Given the description of an element on the screen output the (x, y) to click on. 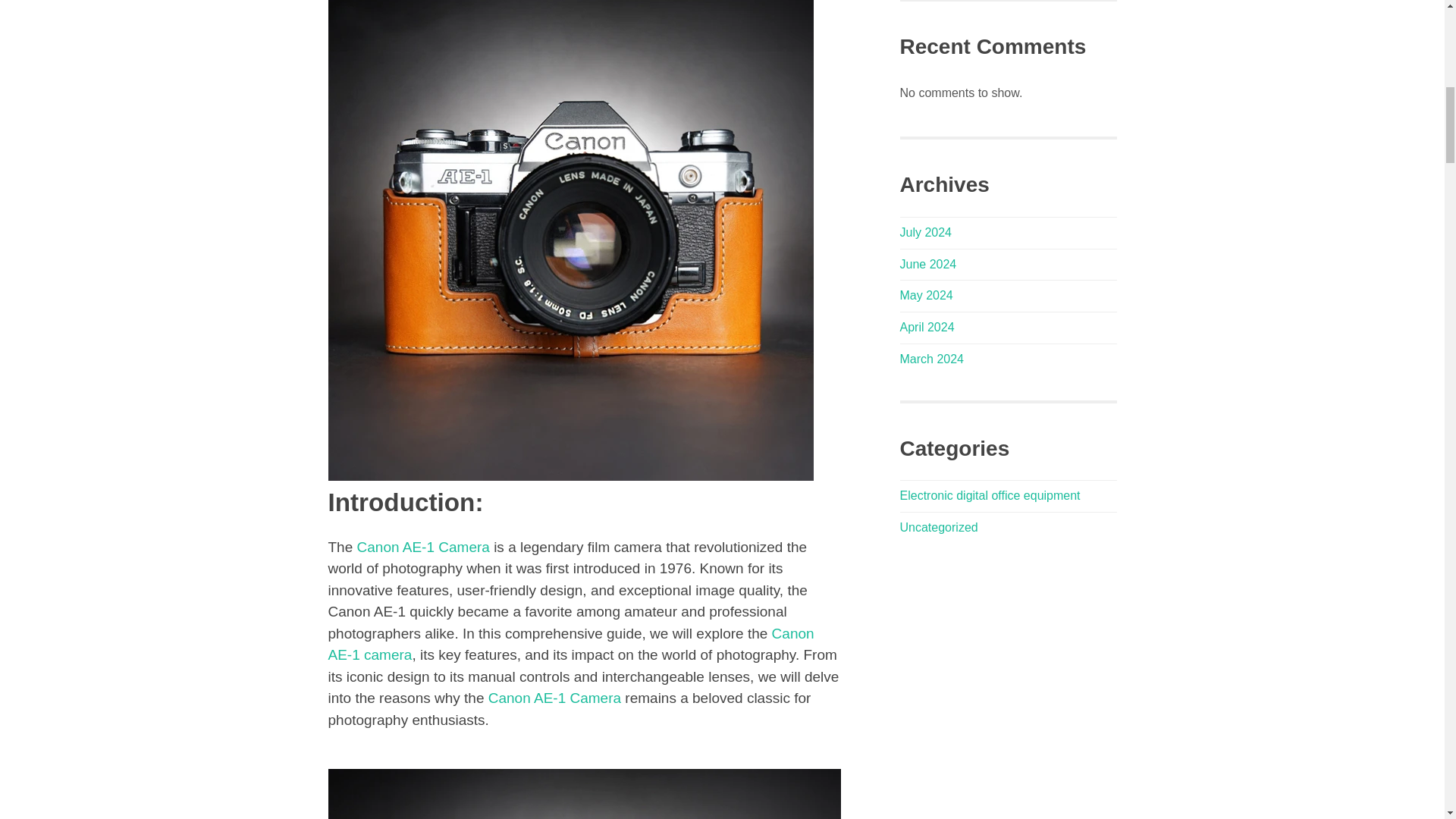
Canon AE-1 Camera (422, 546)
Canon AE-1 camera (570, 644)
Canon AE-1 Camera (552, 697)
